Given the description of an element on the screen output the (x, y) to click on. 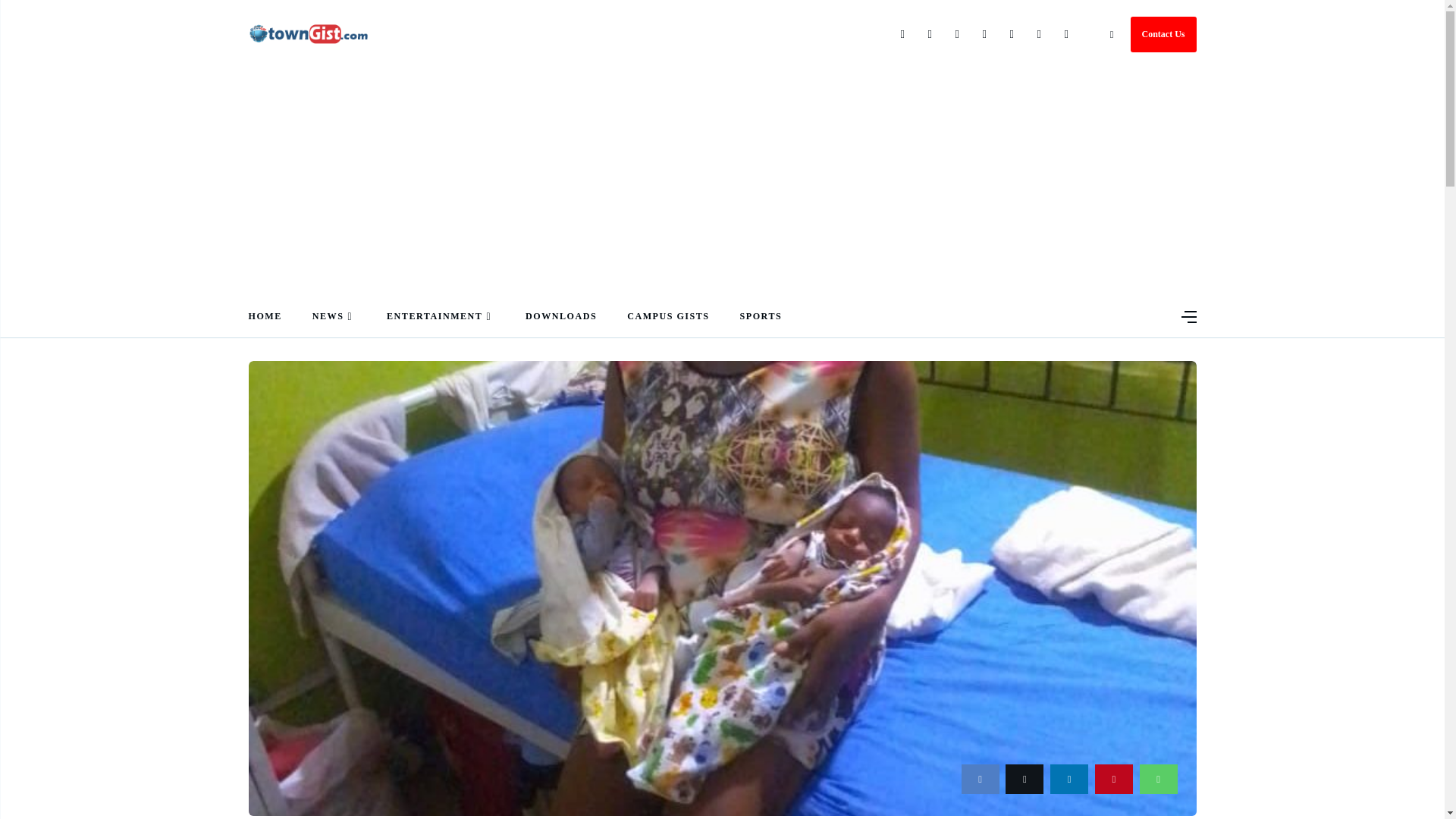
facebook (979, 778)
